Given the description of an element on the screen output the (x, y) to click on. 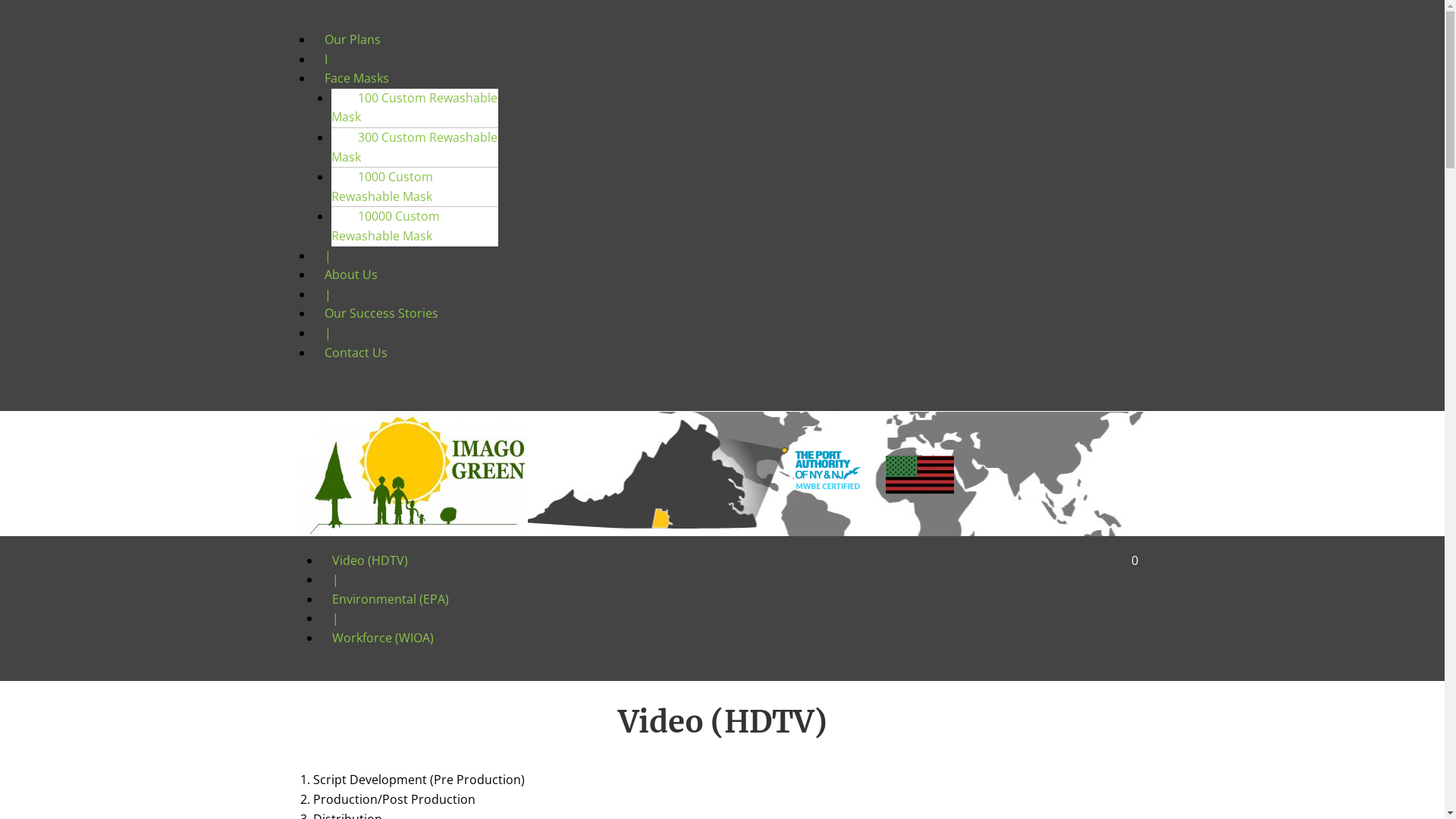
I Element type: text (325, 59)
10000 Custom Rewashable Mask Element type: text (386, 225)
Contact Us Element type: text (355, 352)
Face Masks Element type: text (355, 77)
| Element type: text (334, 578)
| Element type: text (327, 332)
| Element type: text (327, 255)
Our Success Stories Element type: text (380, 313)
1000 Custom Rewashable Mask Element type: text (386, 186)
100 Custom Rewashable Mask Element type: text (413, 107)
Video (HDTV) Element type: text (369, 560)
| Element type: text (327, 294)
Environmental (EPA) Element type: text (389, 598)
Workforce (WIOA) Element type: text (382, 637)
| Element type: text (334, 617)
0 Element type: text (1028, 560)
About Us Element type: text (350, 274)
Our Plans Element type: text (351, 39)
300 Custom Rewashable Mask Element type: text (413, 146)
